Given the description of an element on the screen output the (x, y) to click on. 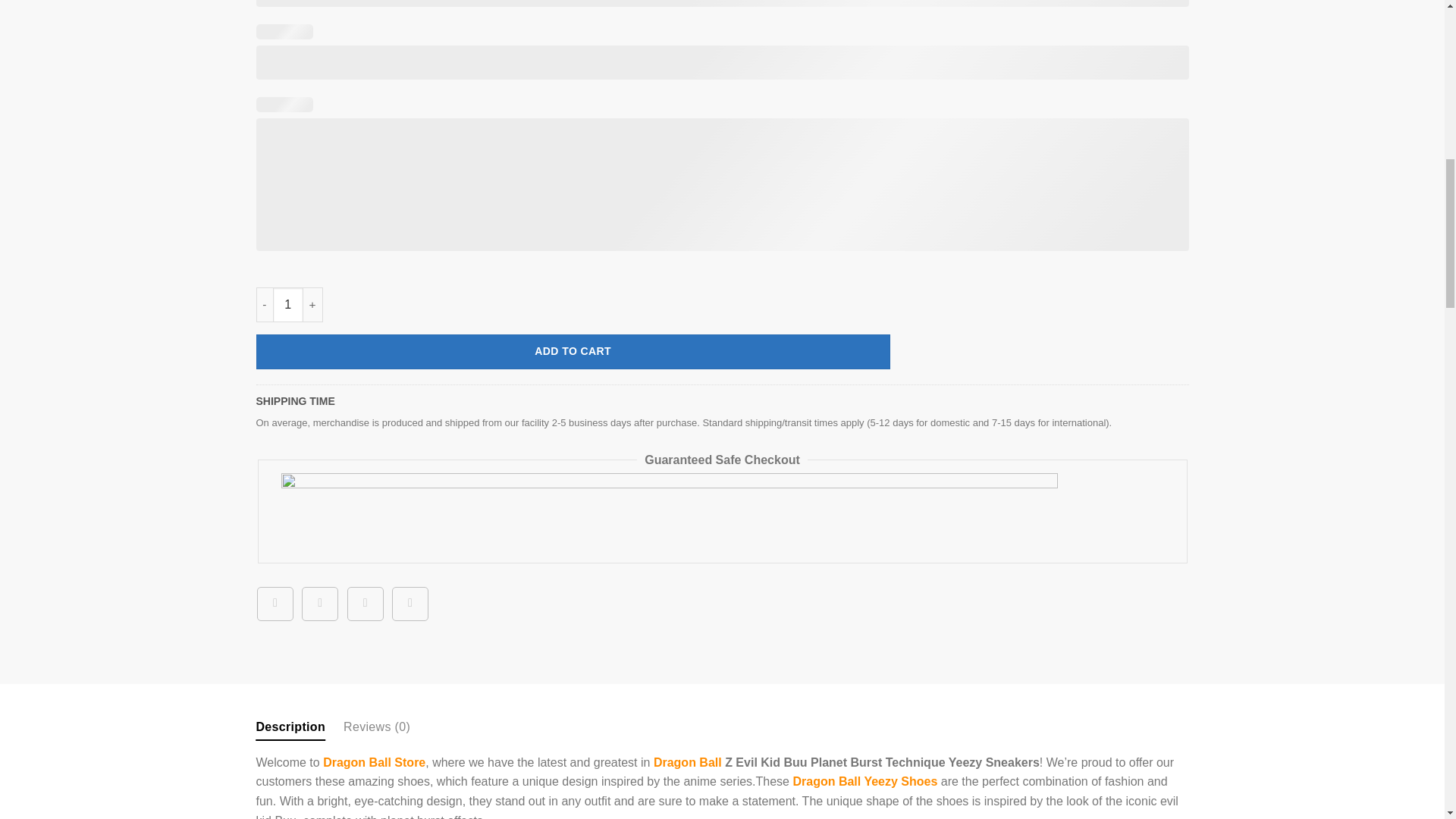
Share on Twitter (319, 603)
Email to a Friend (365, 603)
Share on Facebook (275, 603)
Pin on Pinterest (409, 603)
